Given the description of an element on the screen output the (x, y) to click on. 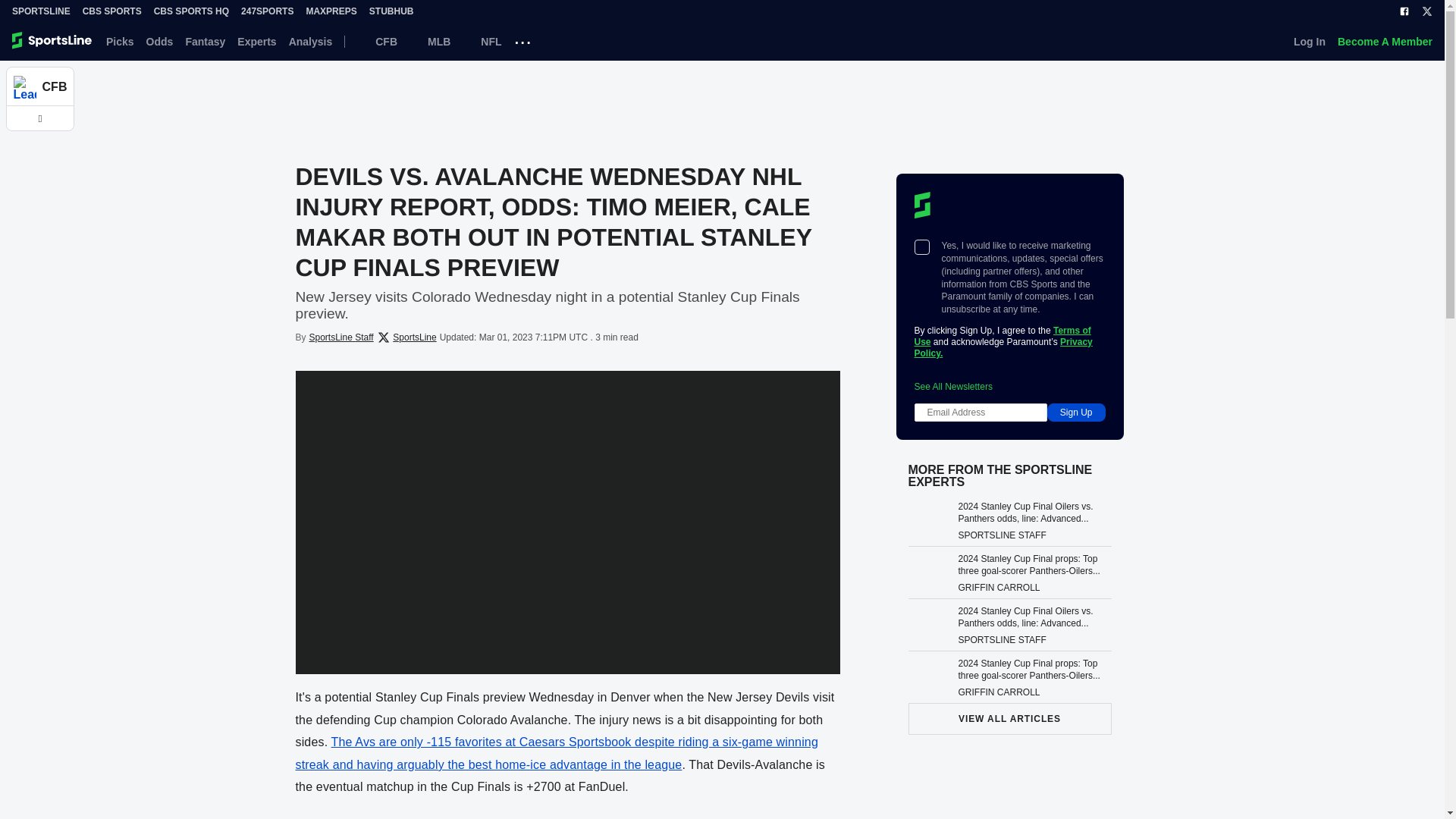
Experts (256, 41)
CBS SPORTS (111, 11)
Fantasy (204, 41)
247Sports (267, 11)
SPORTSLINE (40, 11)
CBS SPORTS HQ (191, 11)
CFB (376, 41)
SportsLine (40, 11)
sportsline.com (52, 41)
MAXPREPS (330, 11)
